Given the description of an element on the screen output the (x, y) to click on. 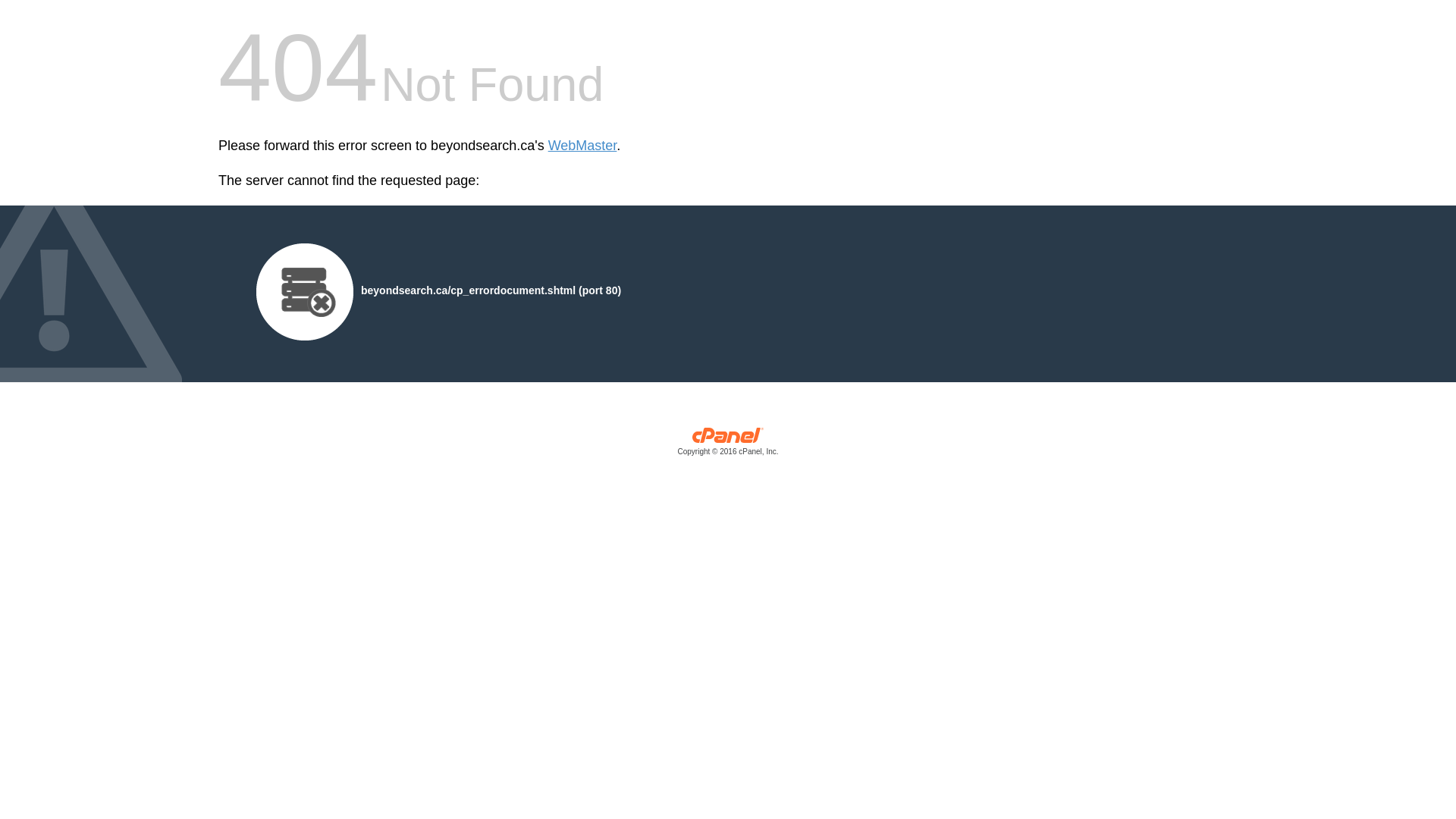
WebMaster Element type: text (582, 145)
